Given the description of an element on the screen output the (x, y) to click on. 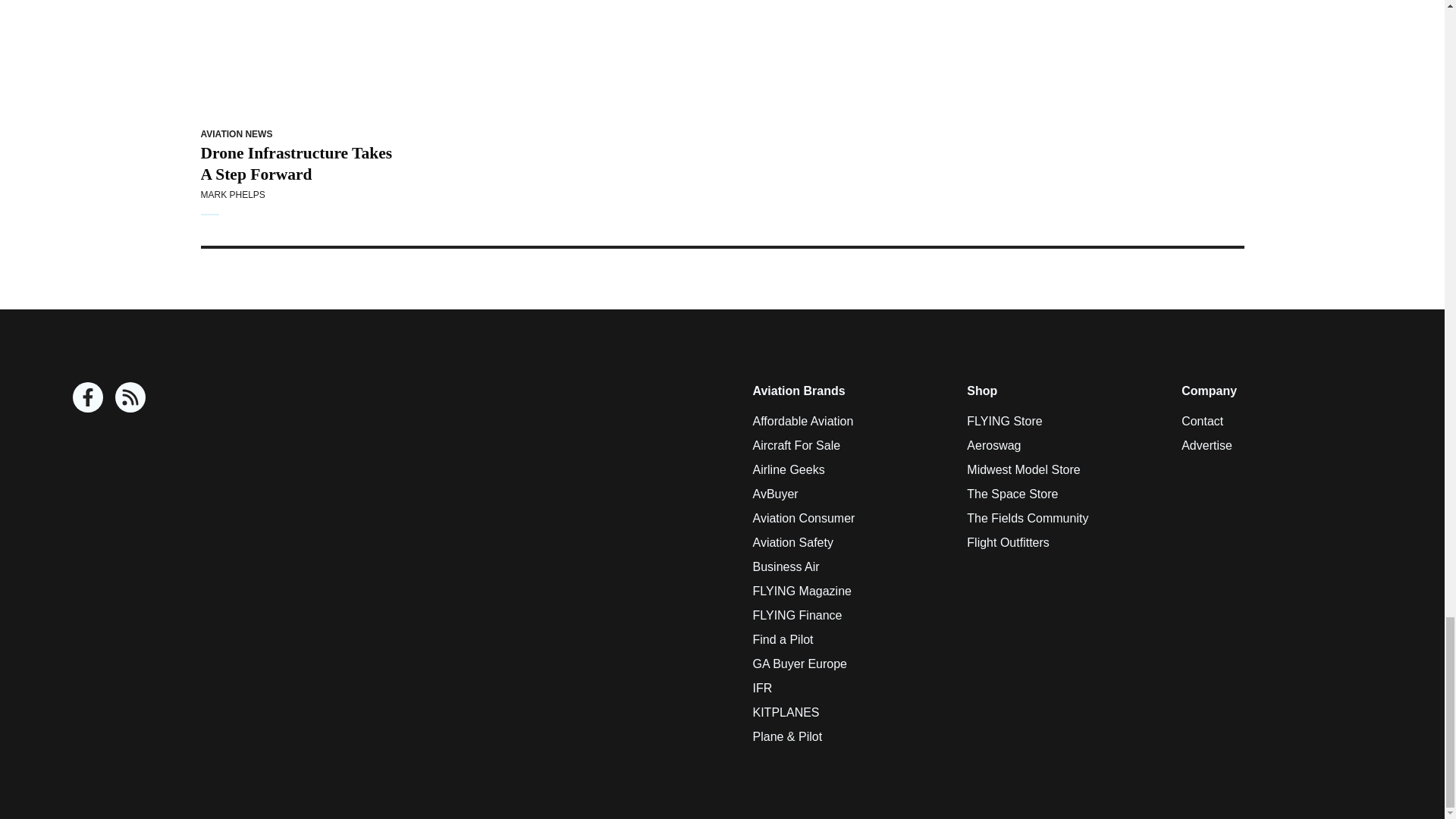
Rss (130, 397)
Facebook (87, 397)
Drone Infrastructure Takes A Step Forward (297, 58)
